Given the description of an element on the screen output the (x, y) to click on. 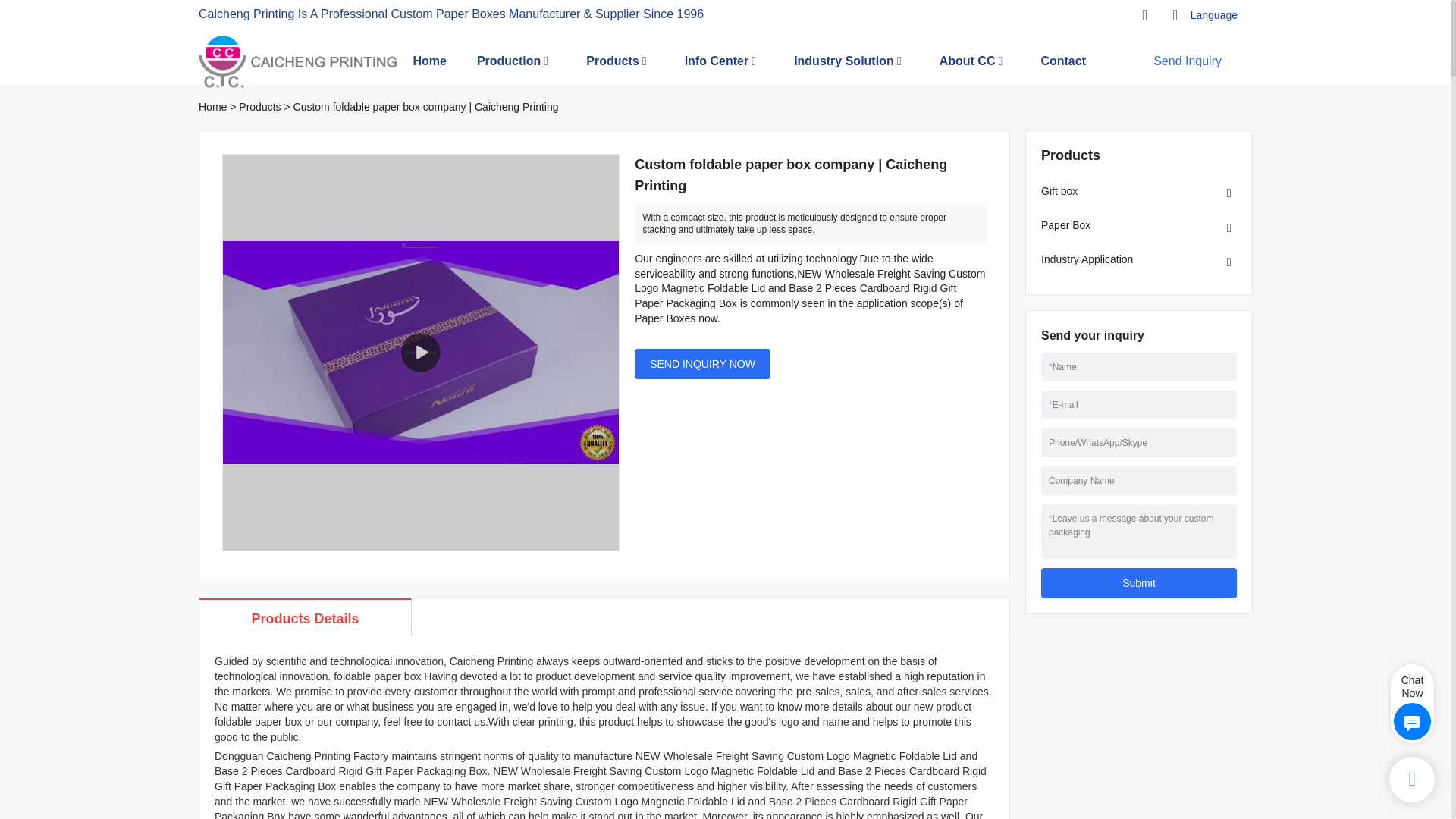
Industry Solution (843, 60)
Production (508, 60)
Info Center (716, 60)
